Given the description of an element on the screen output the (x, y) to click on. 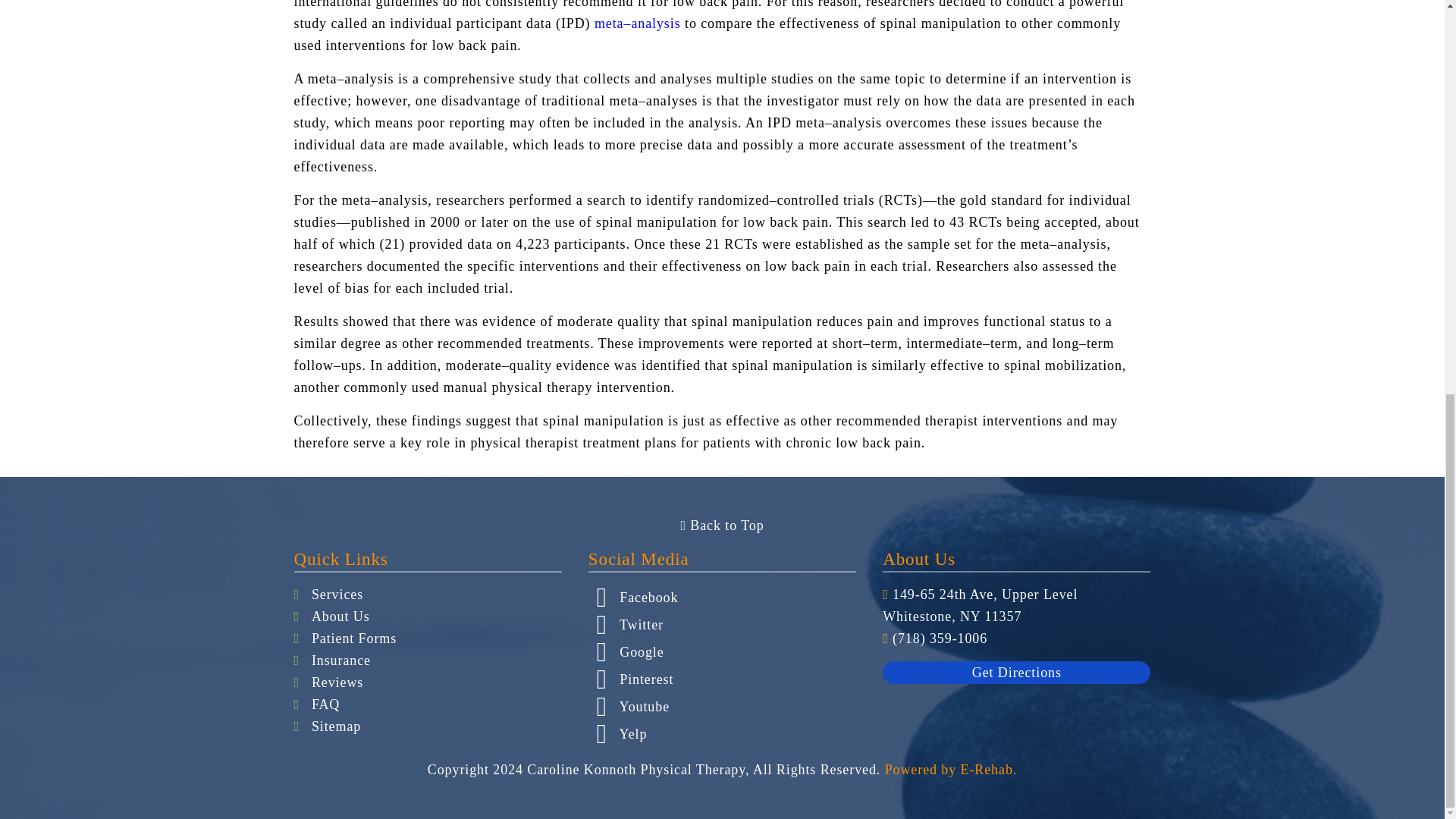
Back to Top (720, 525)
